Given the description of an element on the screen output the (x, y) to click on. 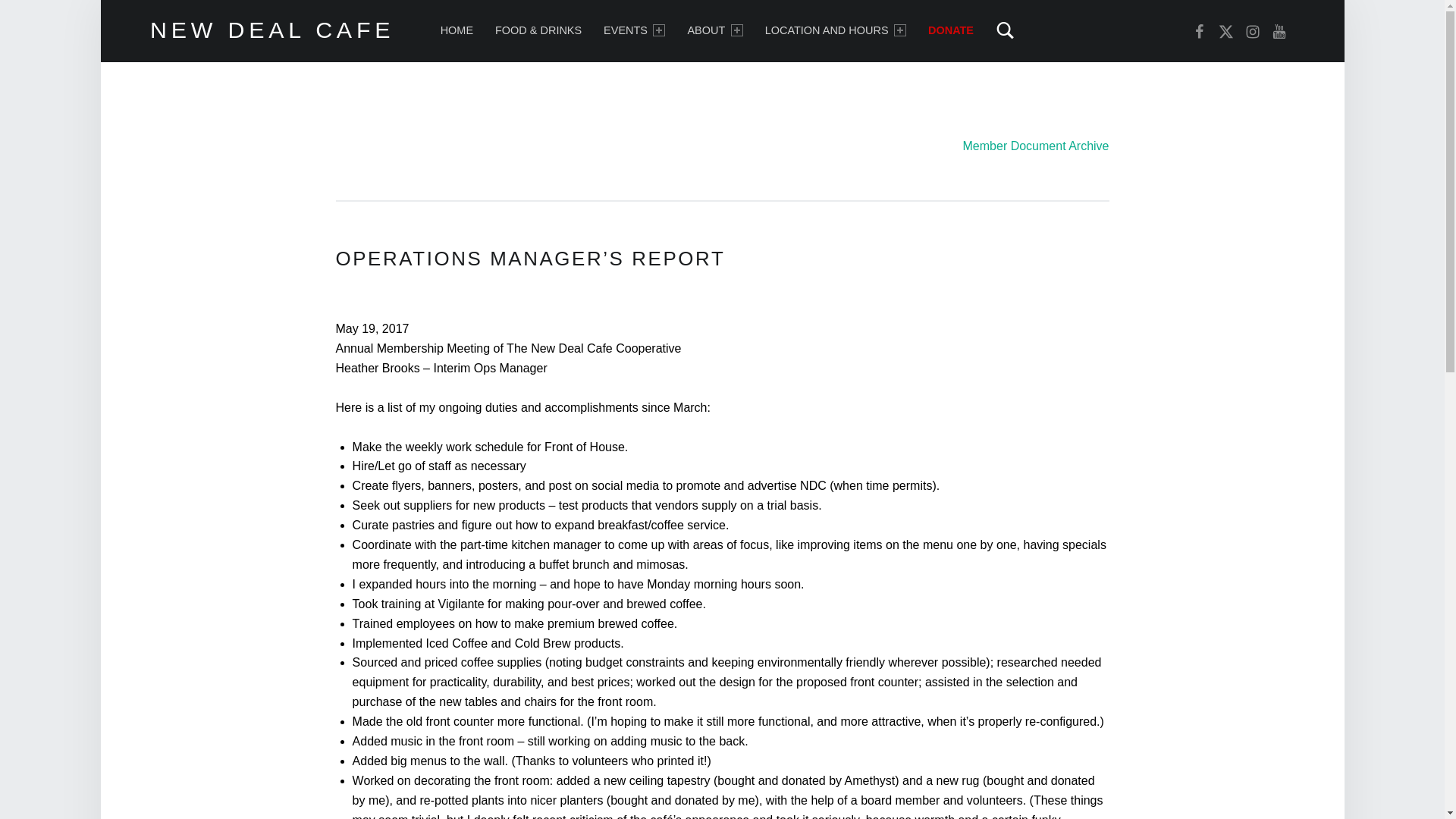
LOCATION AND HOURS (835, 30)
Member Document Archive (1035, 145)
Search (951, 18)
ABOUT (714, 30)
EVENTS (634, 30)
NEW DEAL CAFE (271, 29)
